Given the description of an element on the screen output the (x, y) to click on. 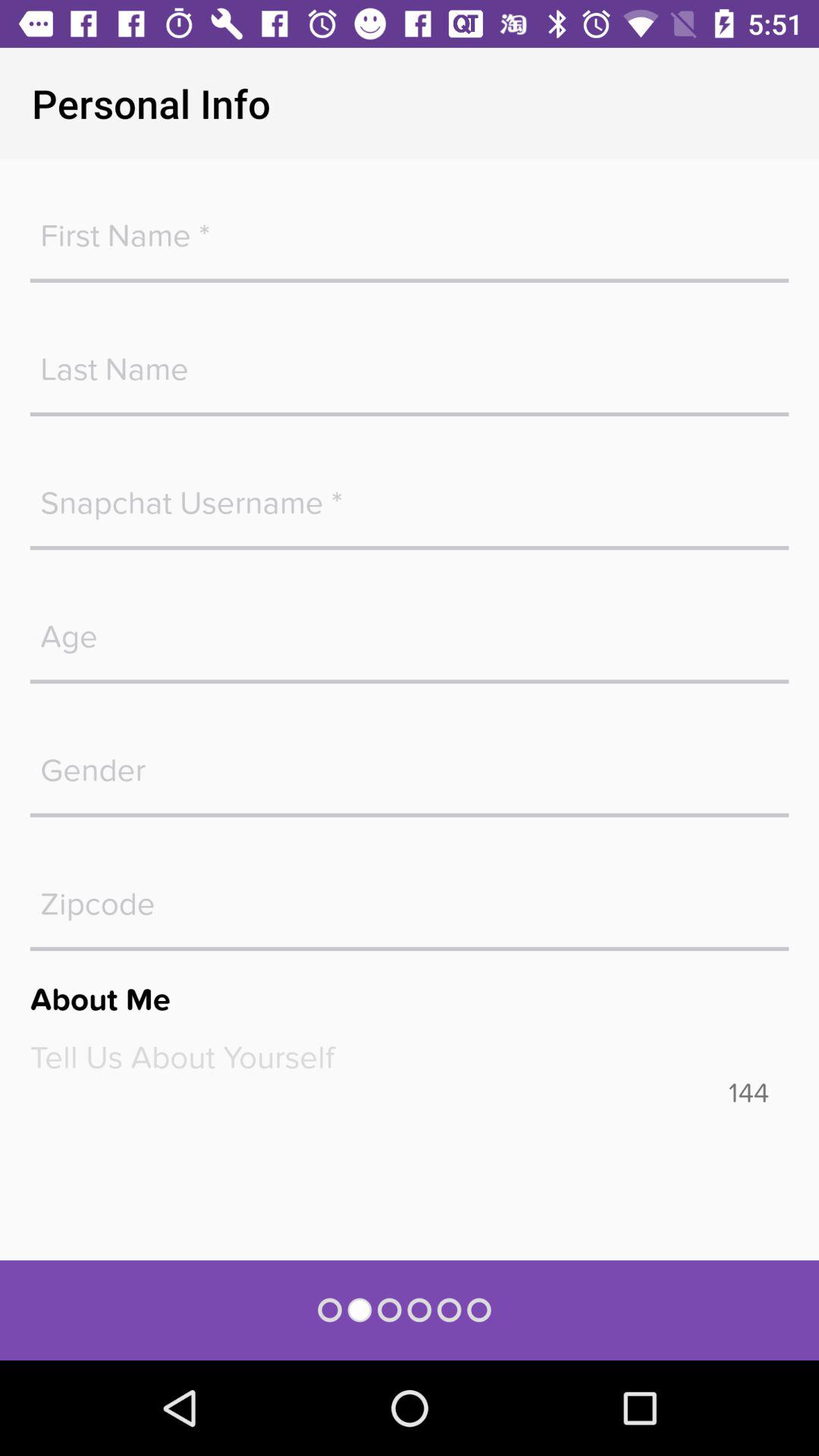
tap item below the about me icon (409, 1057)
